Given the description of an element on the screen output the (x, y) to click on. 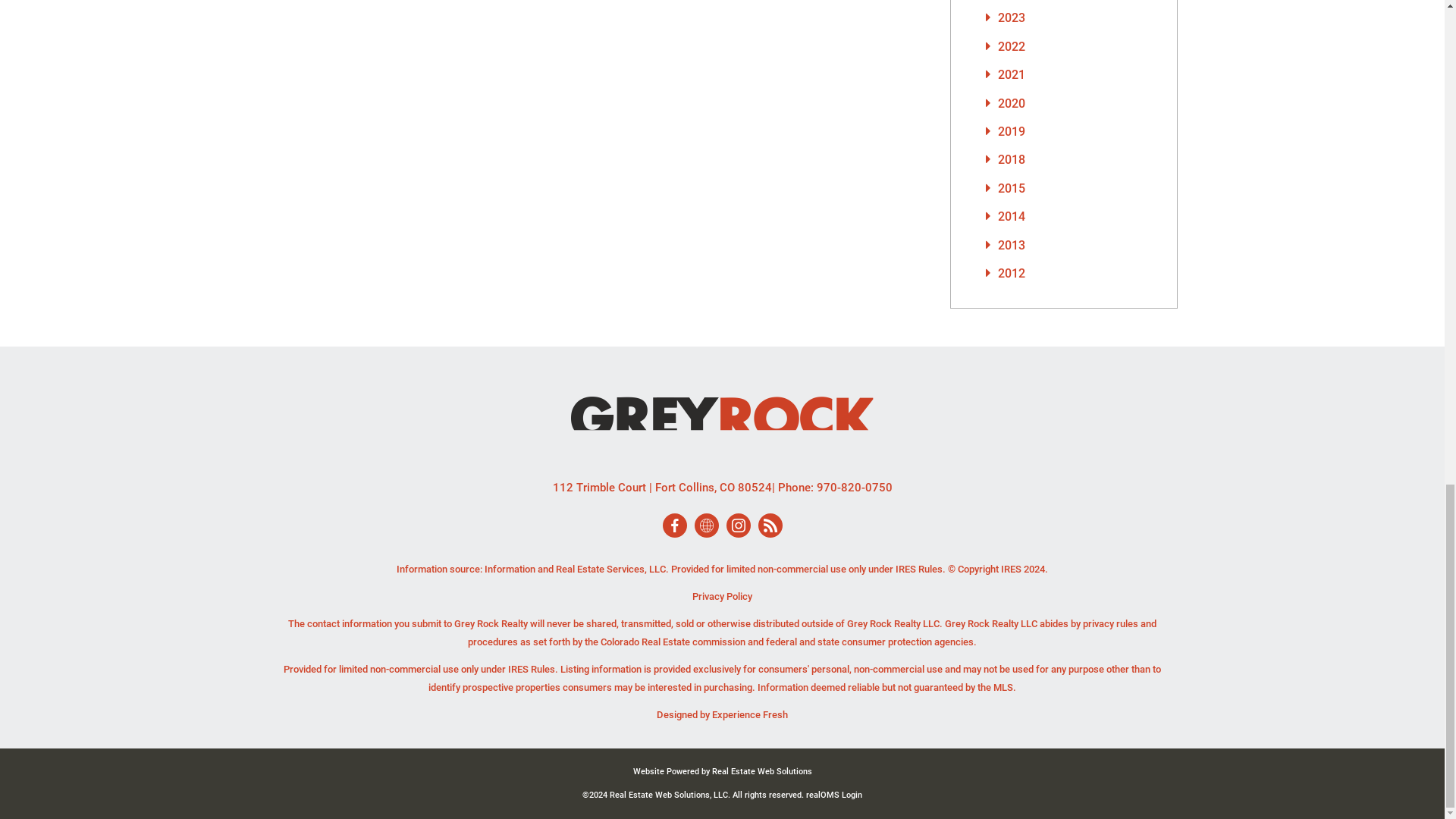
Visit me on Facebook (673, 525)
Visit me on Instagram (737, 525)
Visit me on Website (705, 525)
Visit me on Blog (769, 525)
